Given the description of an element on the screen output the (x, y) to click on. 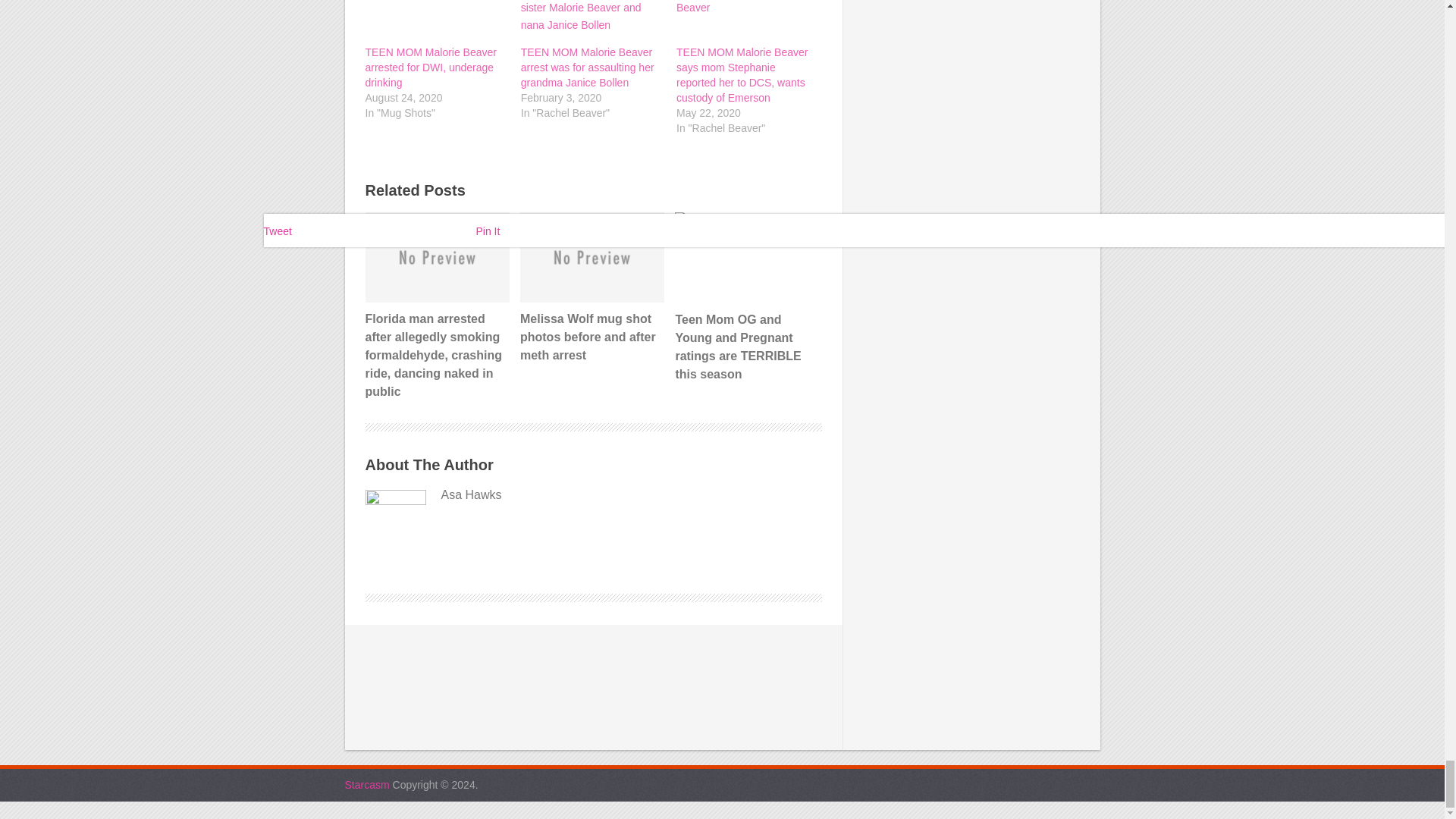
TEEN MOM Malorie Beaver arrested for DWI, underage drinking (430, 66)
TEEN MOM Malorie Beaver arrested for DWI, underage drinking (435, 22)
